Given the description of an element on the screen output the (x, y) to click on. 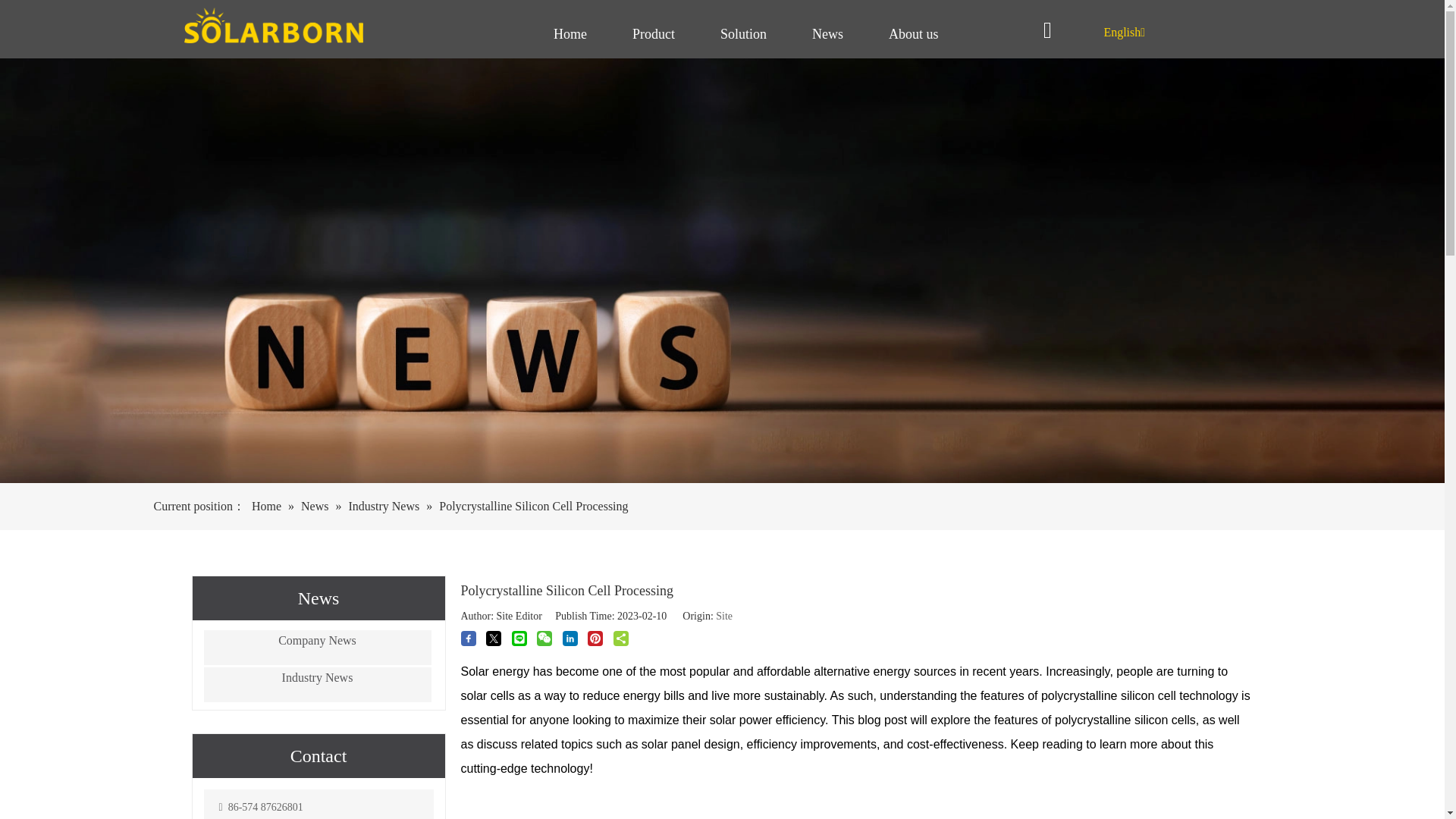
About us (913, 34)
solarborn (272, 25)
Solution (743, 34)
Home (570, 34)
News (827, 34)
Industry News (316, 684)
Product (653, 34)
Company News (316, 647)
